Given the description of an element on the screen output the (x, y) to click on. 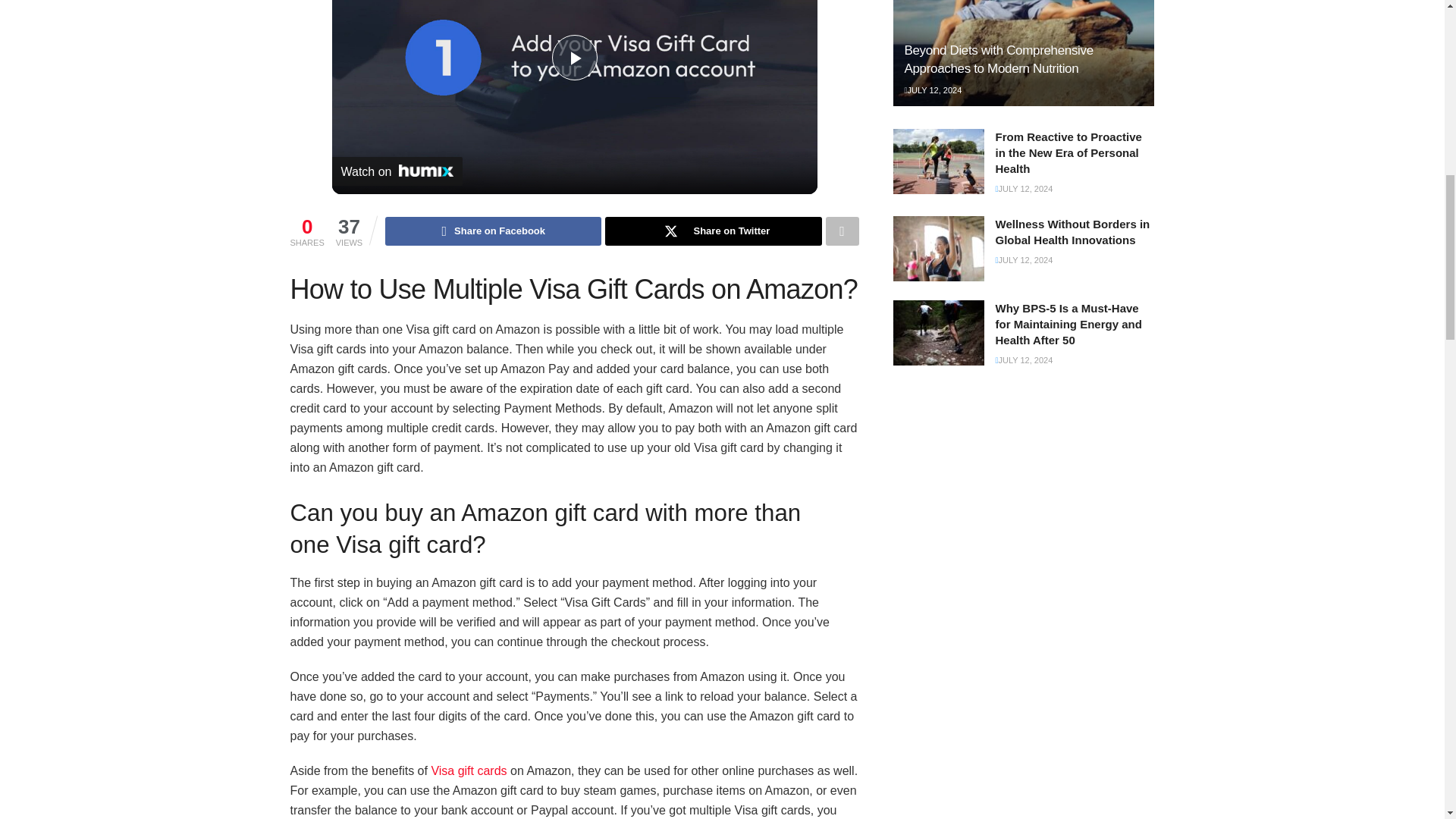
Play Video (573, 57)
